Given the description of an element on the screen output the (x, y) to click on. 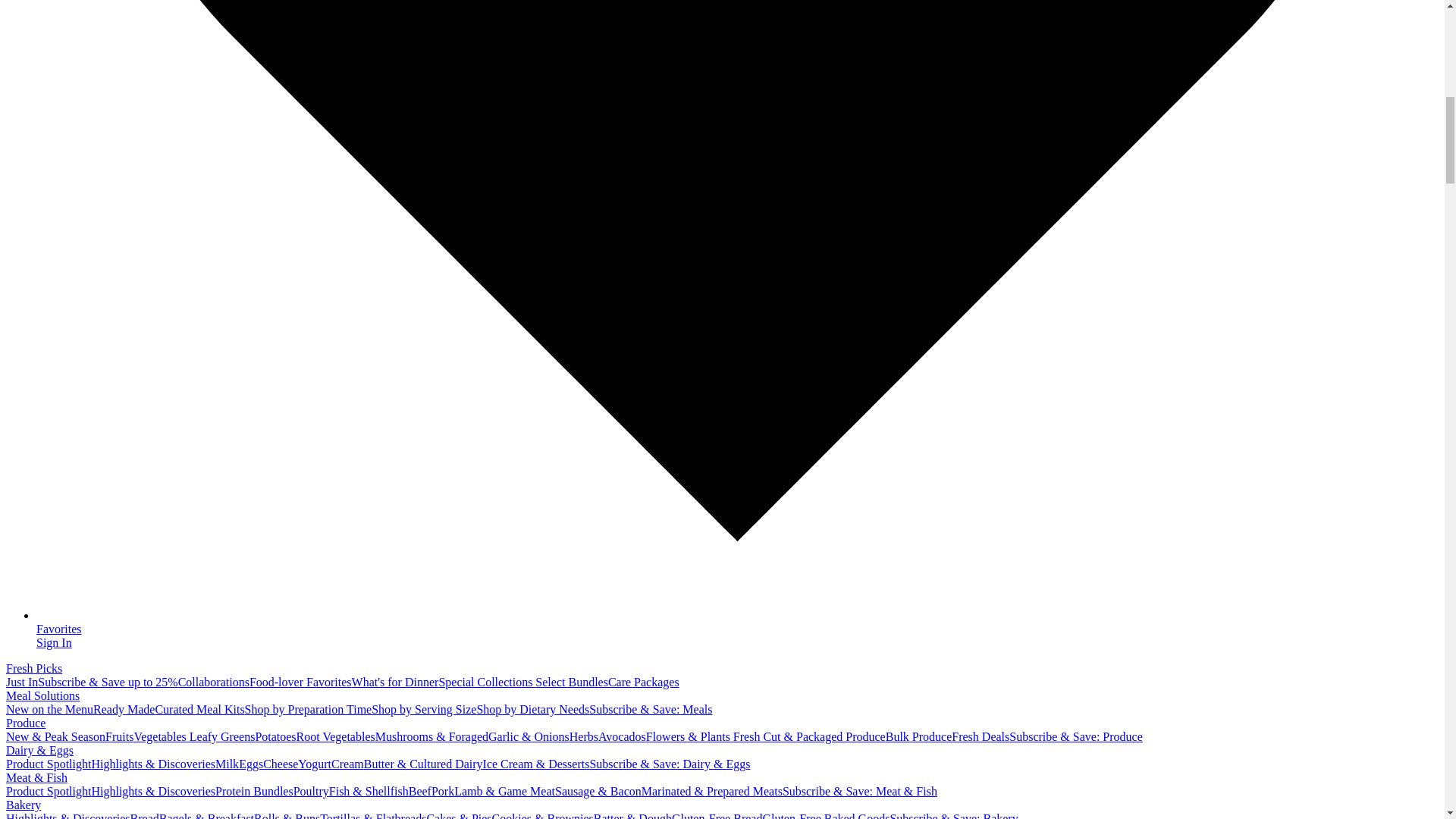
Just In (21, 681)
Ready Made (123, 708)
Potatoes (274, 736)
Curated Meal Kits (199, 708)
New on the Menu (49, 708)
Sign In (53, 642)
Care Packages (643, 681)
What's for Dinner (395, 681)
Leafy Greens (221, 736)
Herbs (583, 736)
Select Bundles (571, 681)
Shop by Preparation Time (308, 708)
Food-lover Favorites (300, 681)
Shop by Dietary Needs (532, 708)
Special Collections (486, 681)
